Given the description of an element on the screen output the (x, y) to click on. 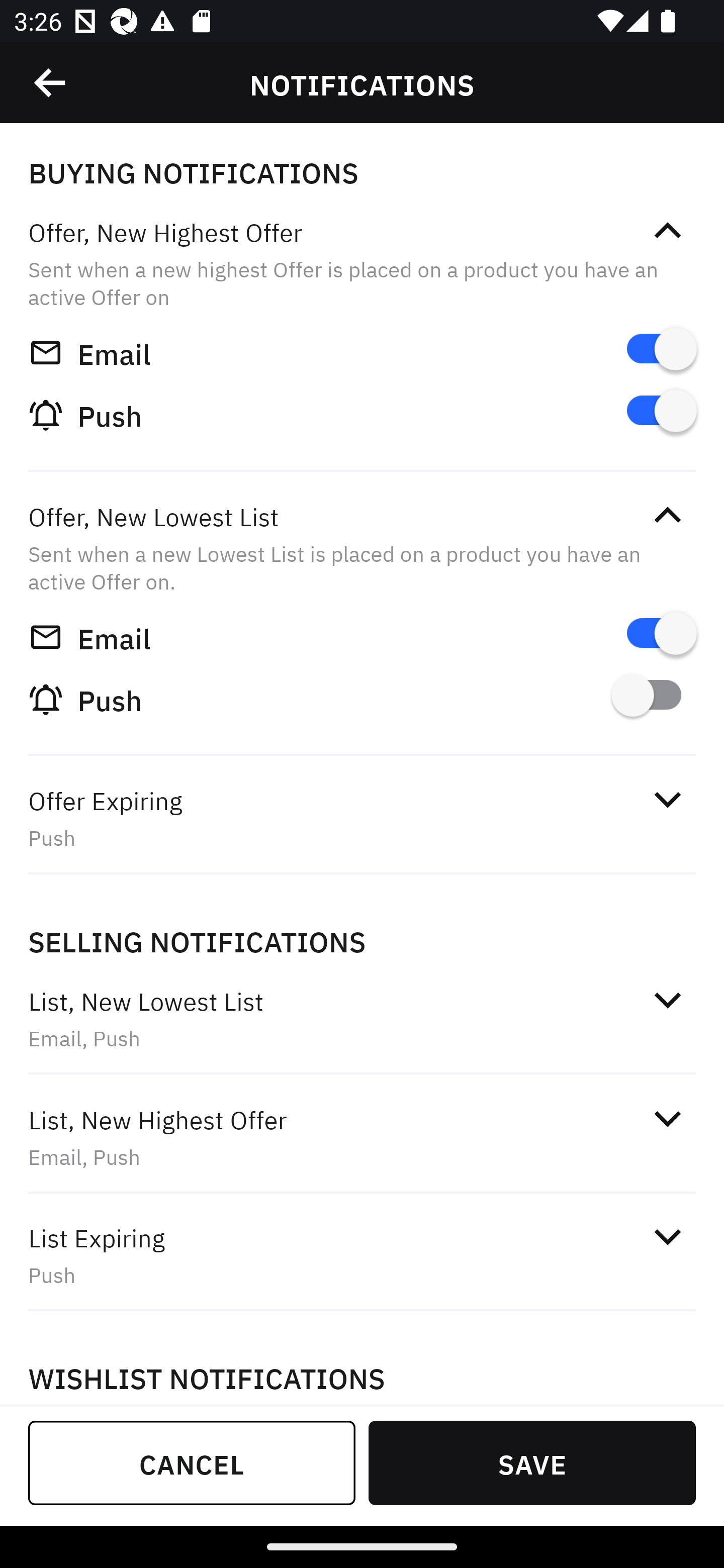
 (50, 83)
 (667, 231)
 (667, 514)
Offer Expiring  Push (361, 818)
 (667, 799)
List, New Lowest List  Email, Push (361, 1018)
 (667, 999)
List, New Highest Offer  Email, Push (361, 1137)
 (667, 1118)
List Expiring  Push (361, 1254)
 (667, 1236)
CANCEL (191, 1462)
SAVE (531, 1462)
